Given the description of an element on the screen output the (x, y) to click on. 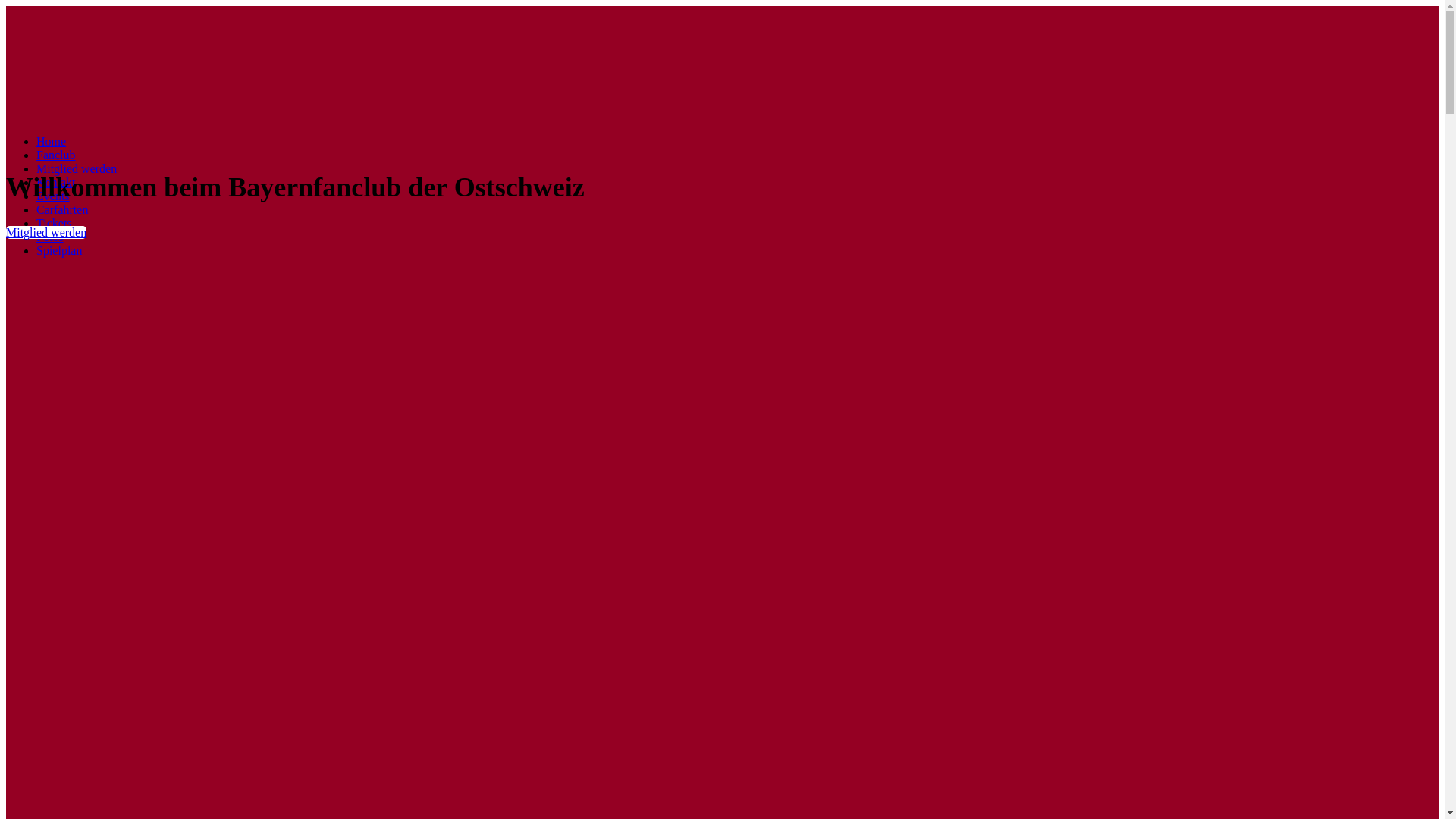
Tickets Element type: text (54, 222)
Mitglied werden Element type: text (76, 168)
Carfahrten Element type: text (61, 209)
Spielplan Element type: text (58, 250)
Home Element type: text (50, 140)
Fanclub Element type: text (55, 154)
Events Element type: text (52, 195)
Fotos Element type: text (49, 236)
Mitglied werden Element type: text (46, 231)
Kontakt Element type: text (55, 181)
